Given the description of an element on the screen output the (x, y) to click on. 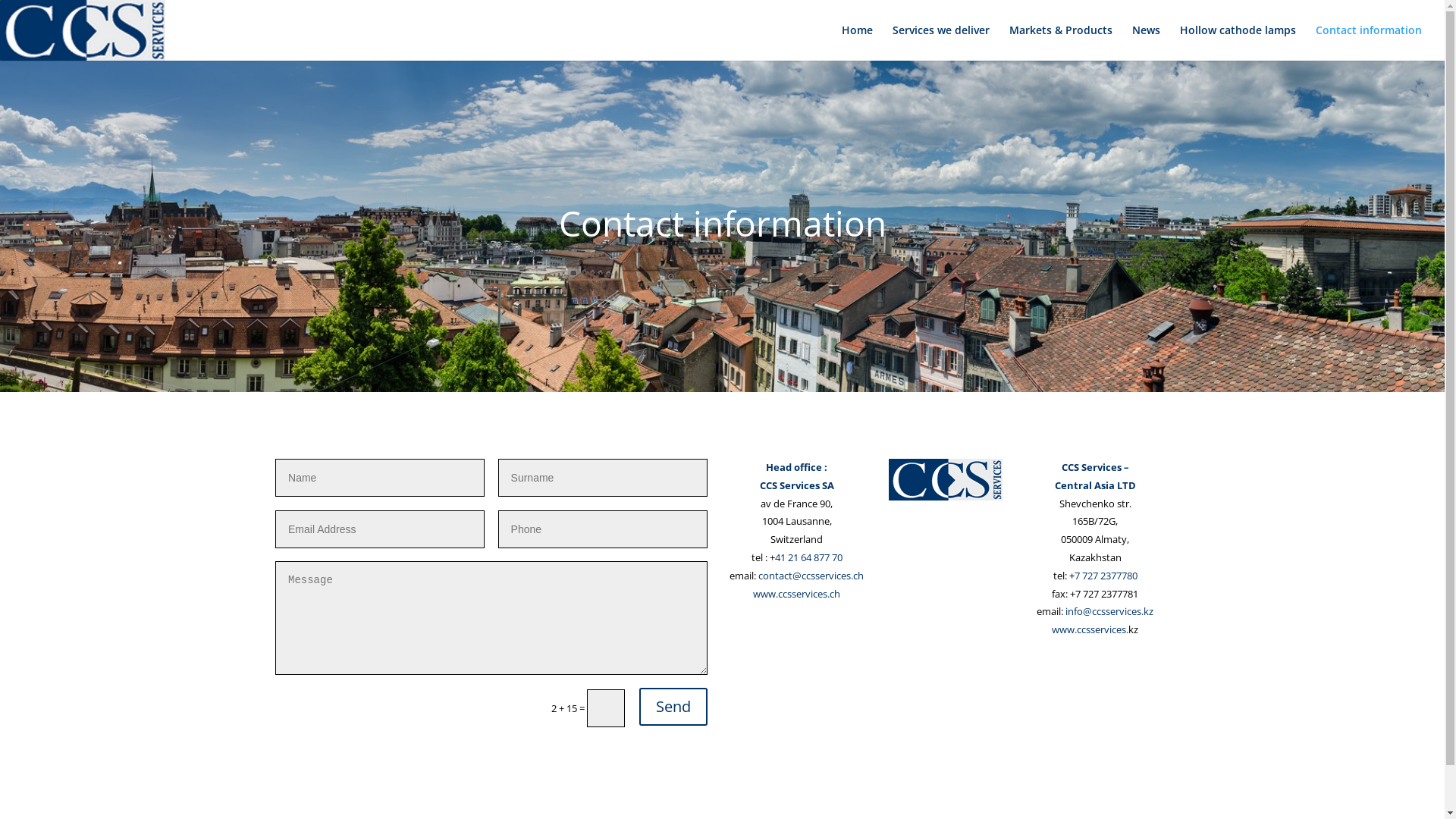
Services we deliver Element type: text (940, 42)
News Element type: text (1146, 42)
info@ccsservices.kz Element type: text (1109, 611)
Send Element type: text (672, 706)
contact@ccsservices.ch Element type: text (810, 575)
www.ccsservices. Element type: text (1089, 629)
Home Element type: text (856, 42)
www.ccsservices.ch Element type: text (796, 593)
41 21 64 877 70 Element type: text (808, 557)
Hollow cathode lamps Element type: text (1237, 42)
Contact information Element type: text (1368, 42)
7 727 2377780 Element type: text (1105, 575)
Markets & Products Element type: text (1060, 42)
